Given the description of an element on the screen output the (x, y) to click on. 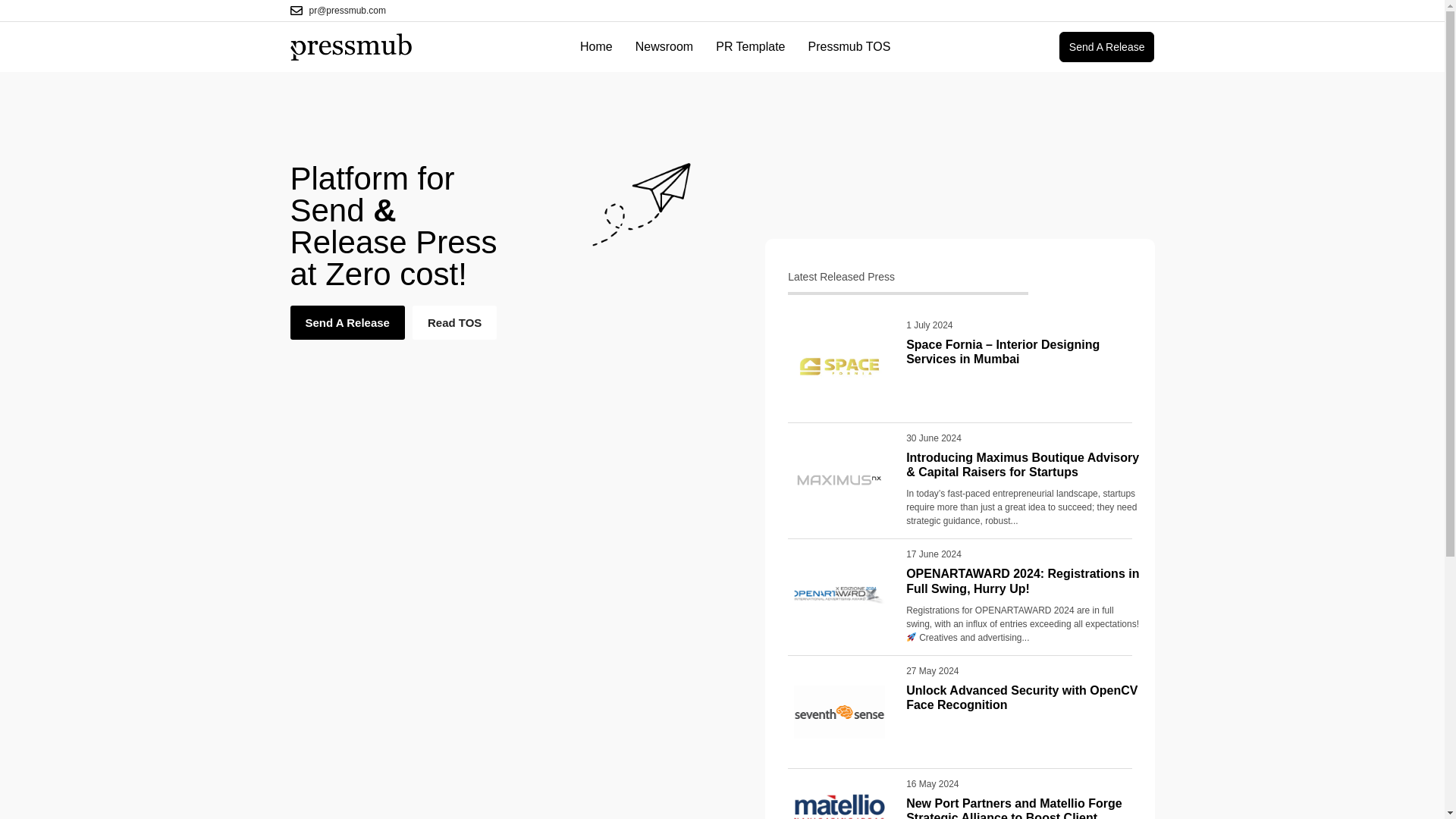
Read TOS (454, 322)
Unlock Advanced Security with OpenCV Face Recognition (1021, 697)
Send A Release (346, 322)
OPENARTAWARD 2024: Registrations in Full Swing, Hurry Up! (1021, 580)
Pressmub TOS (849, 46)
Newsroom (663, 46)
Send A Release (1106, 46)
Home (595, 46)
PR Template (750, 46)
